Given the description of an element on the screen output the (x, y) to click on. 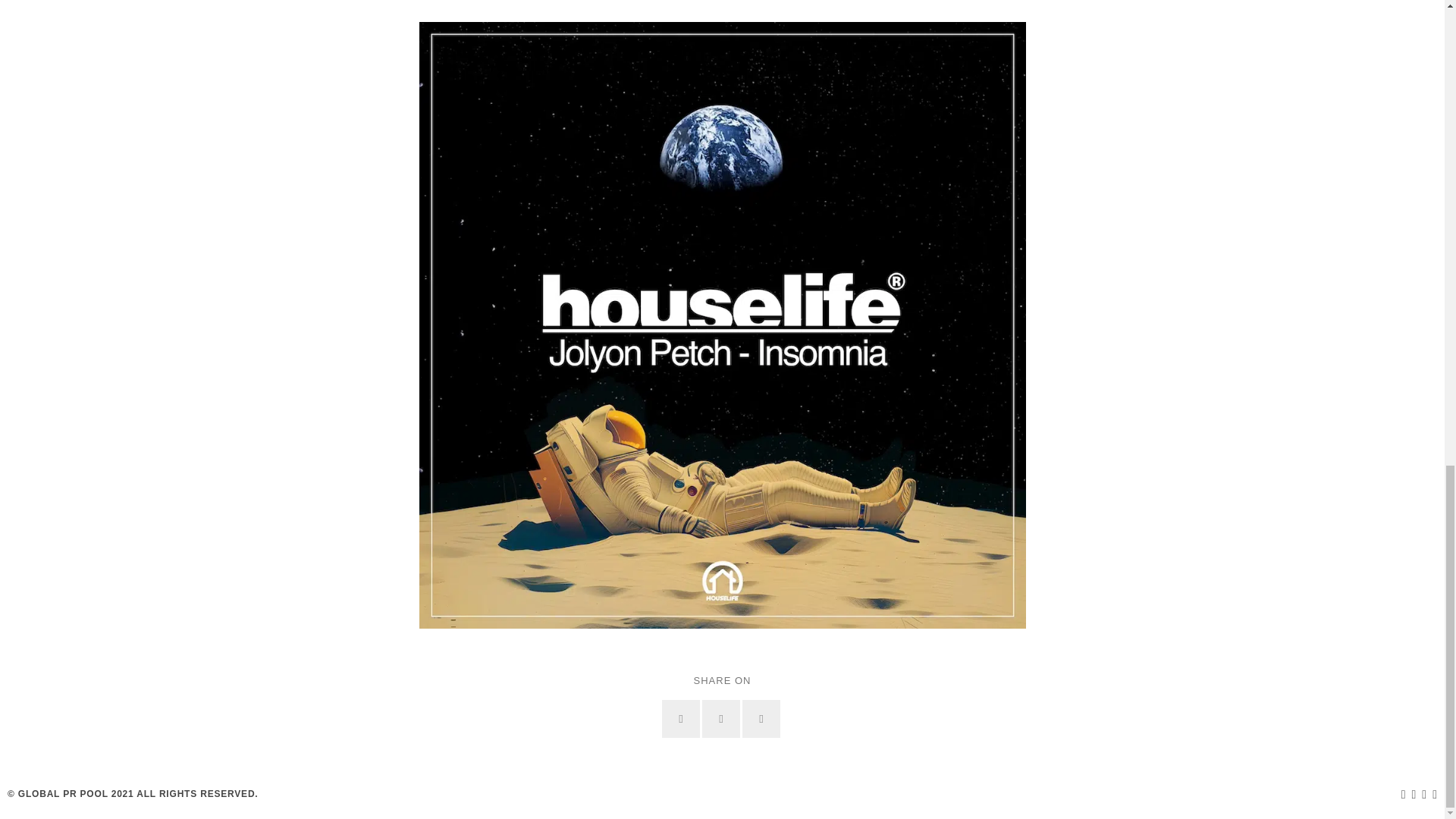
Facebook (681, 718)
Linkedin (761, 718)
Twitter (720, 718)
